Given the description of an element on the screen output the (x, y) to click on. 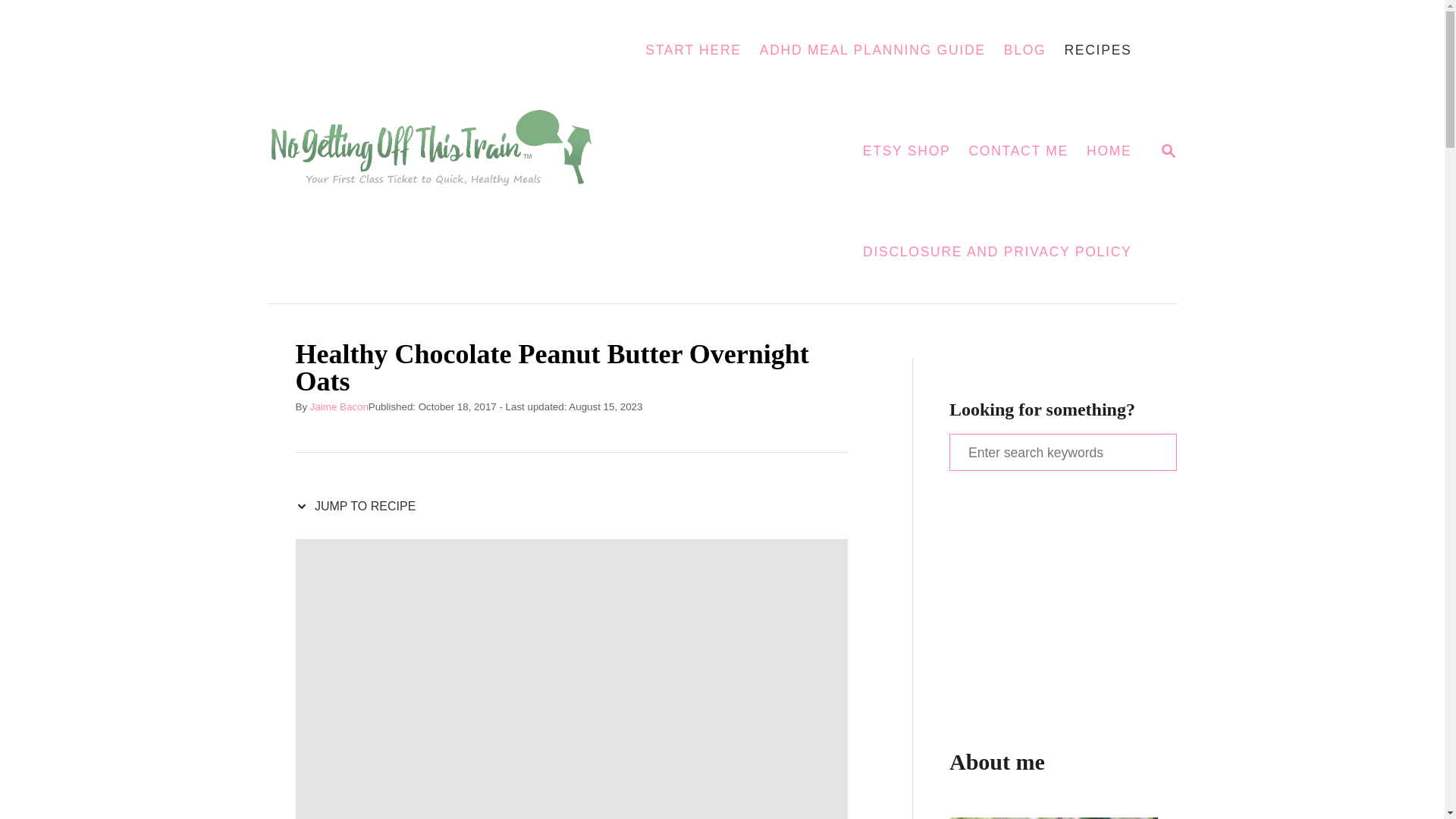
Jaime Bacon (339, 406)
RECIPES (1097, 50)
ADHD MEAL PLANNING GUIDE (872, 50)
DISCLOSURE AND PRIVACY POLICY (997, 252)
JUMP TO RECIPE (359, 506)
BLOG (1024, 50)
Search for: (1062, 452)
ETSY SHOP (1167, 150)
CONTACT ME (906, 151)
